Given the description of an element on the screen output the (x, y) to click on. 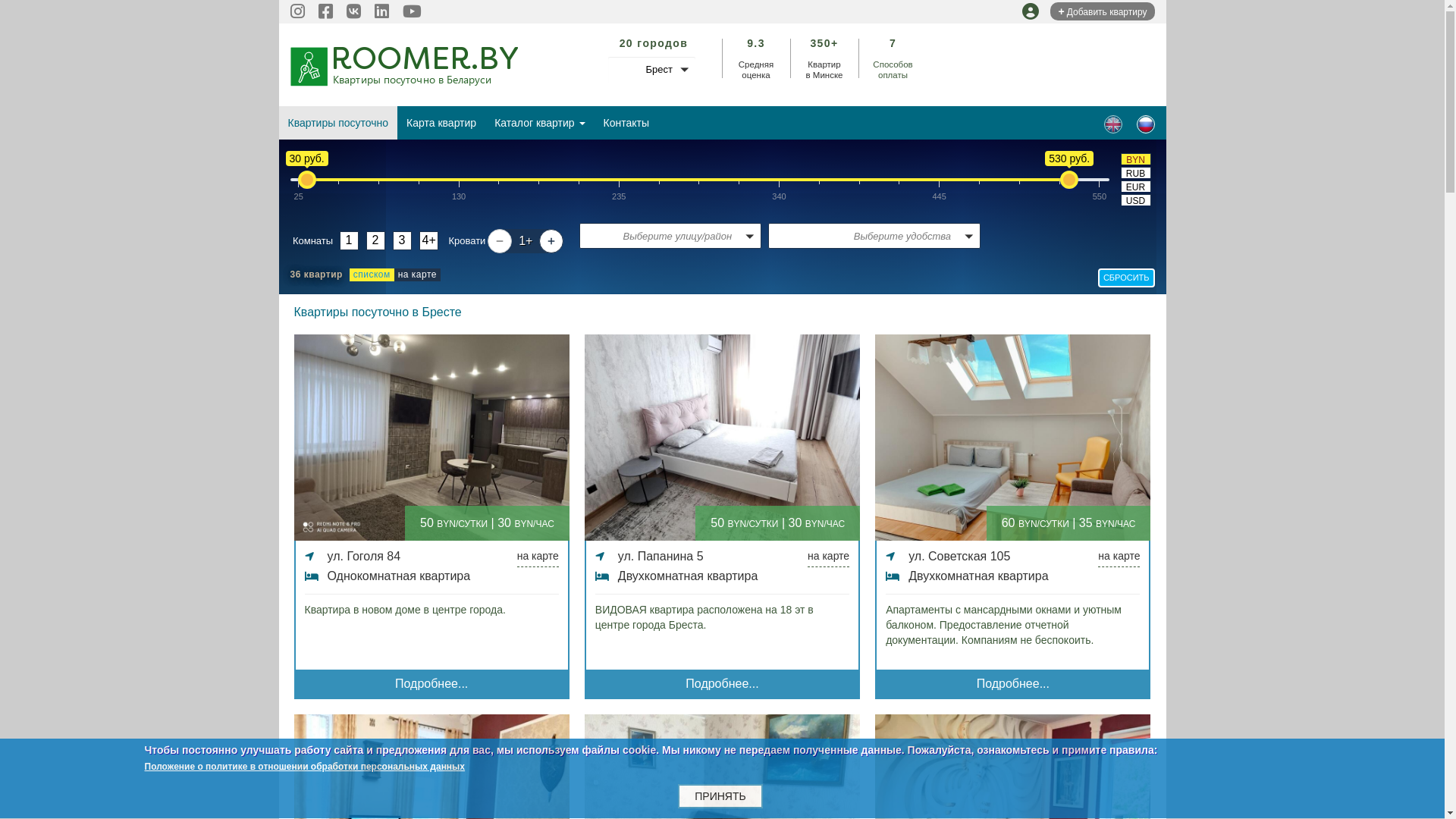
English Element type: hover (1113, 124)
